Given the description of an element on the screen output the (x, y) to click on. 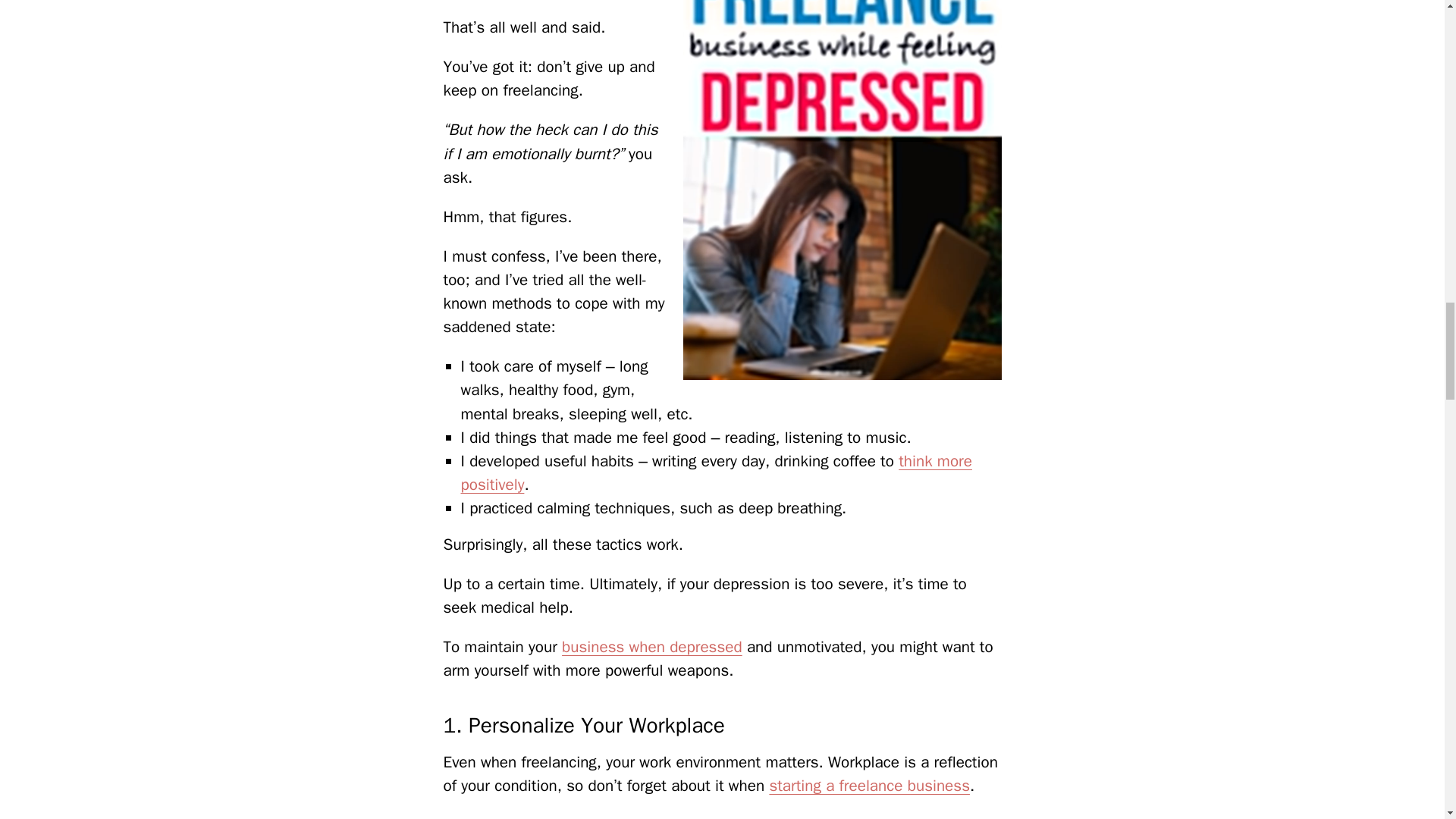
starting a freelance business (868, 785)
think more positively (716, 472)
business when depressed (652, 646)
